Given the description of an element on the screen output the (x, y) to click on. 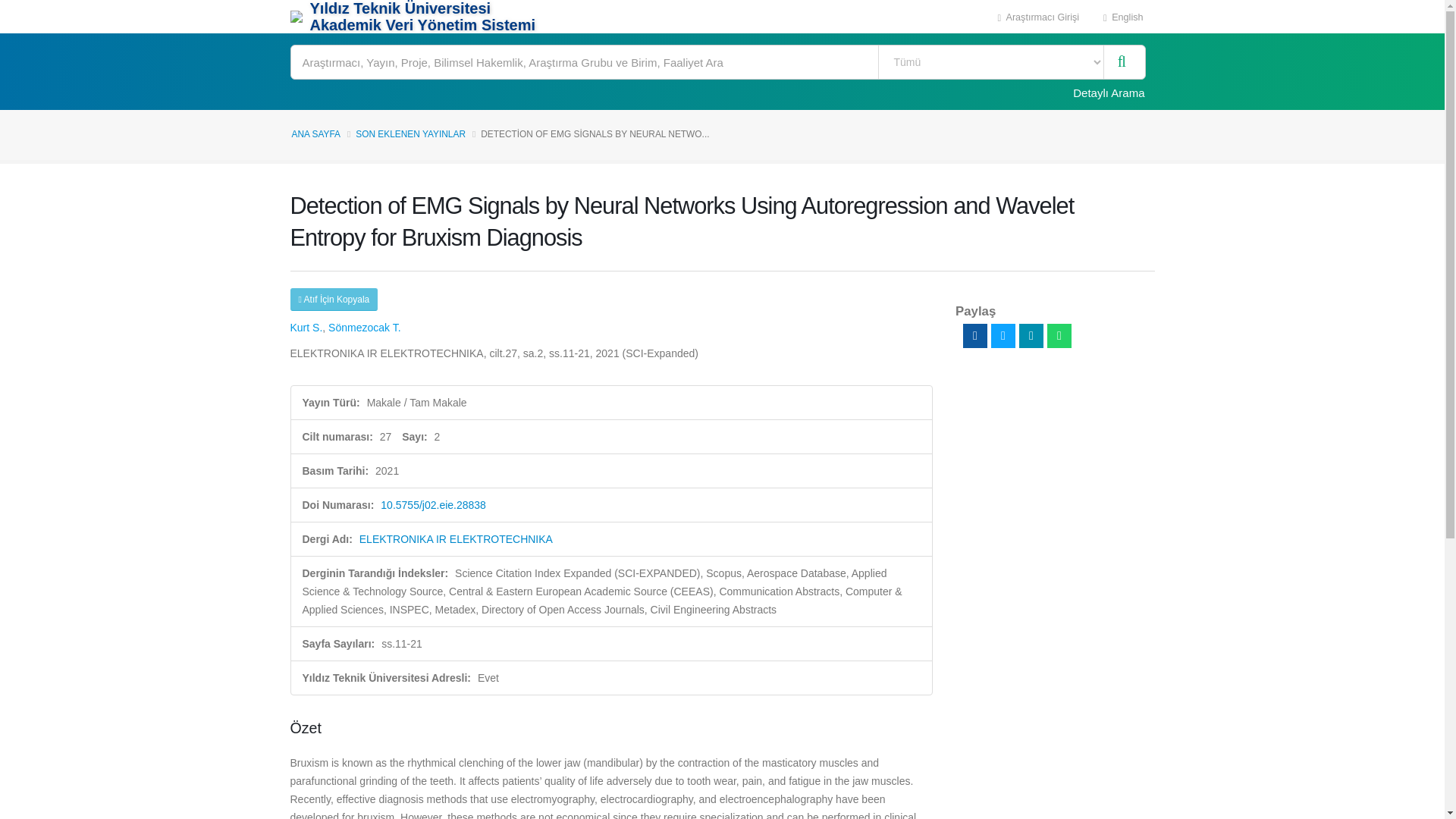
ANA SAYFA (315, 133)
English (1123, 17)
ELEKTRONIKA IR ELEKTROTECHNIKA (456, 539)
SON EKLENEN YAYINLAR (410, 133)
Kurt S. (305, 327)
